Given the description of an element on the screen output the (x, y) to click on. 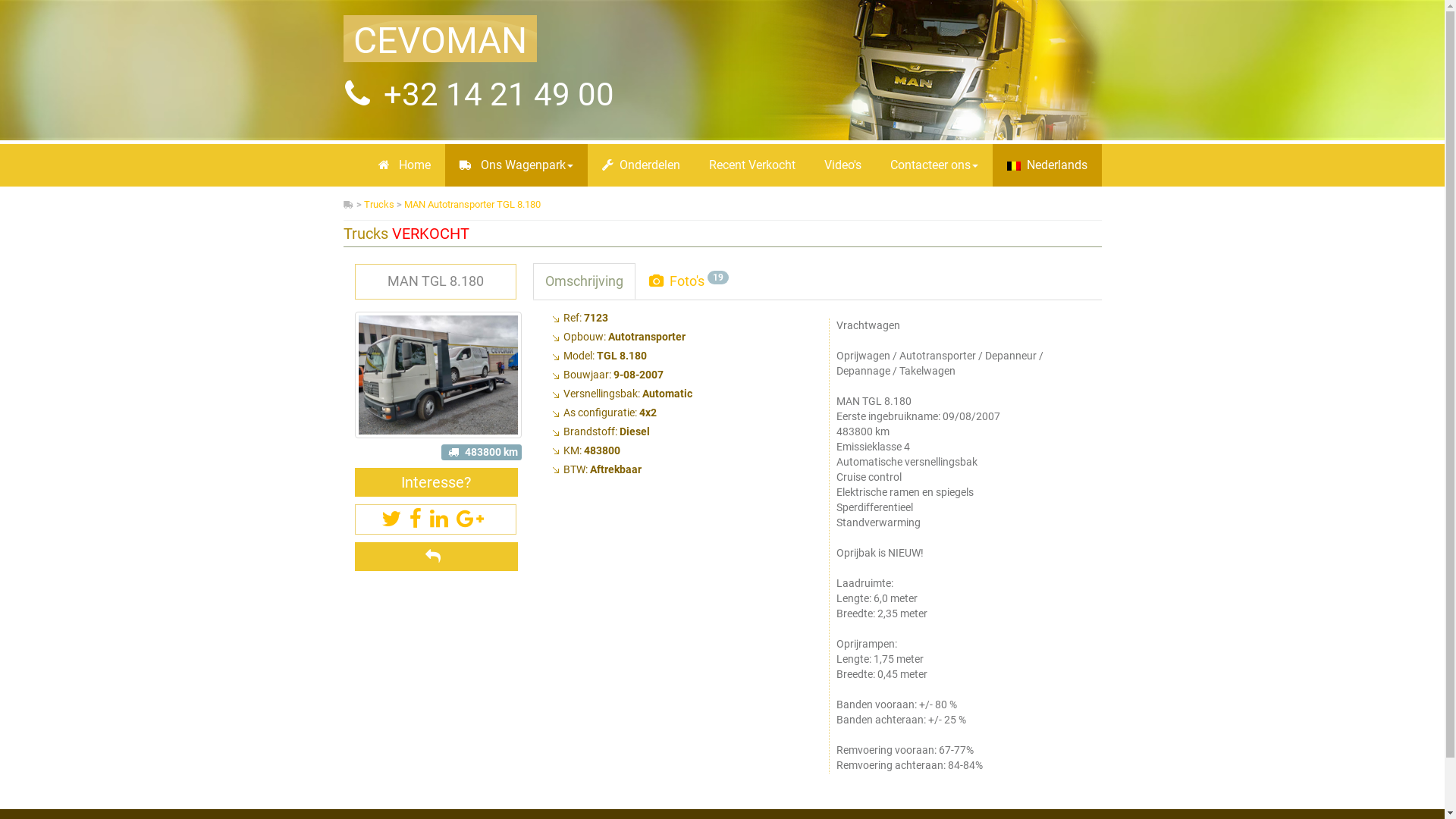
Onderdelen Element type: text (639, 165)
Contacteer ons Element type: text (933, 165)
Omschrijving Element type: text (583, 281)
Interesse? Element type: text (435, 481)
Trucks Element type: text (379, 204)
+32 14 21 49 00 Element type: text (495, 93)
Video's Element type: text (842, 165)
Ons Wagenpark Element type: text (515, 165)
Nederlands Element type: text (1046, 165)
Foto's 19 Element type: text (688, 281)
Home Element type: text (404, 165)
Recent Verkocht Element type: text (751, 165)
MAN Autotransporter TGL 8.180 Element type: text (471, 204)
